Given the description of an element on the screen output the (x, y) to click on. 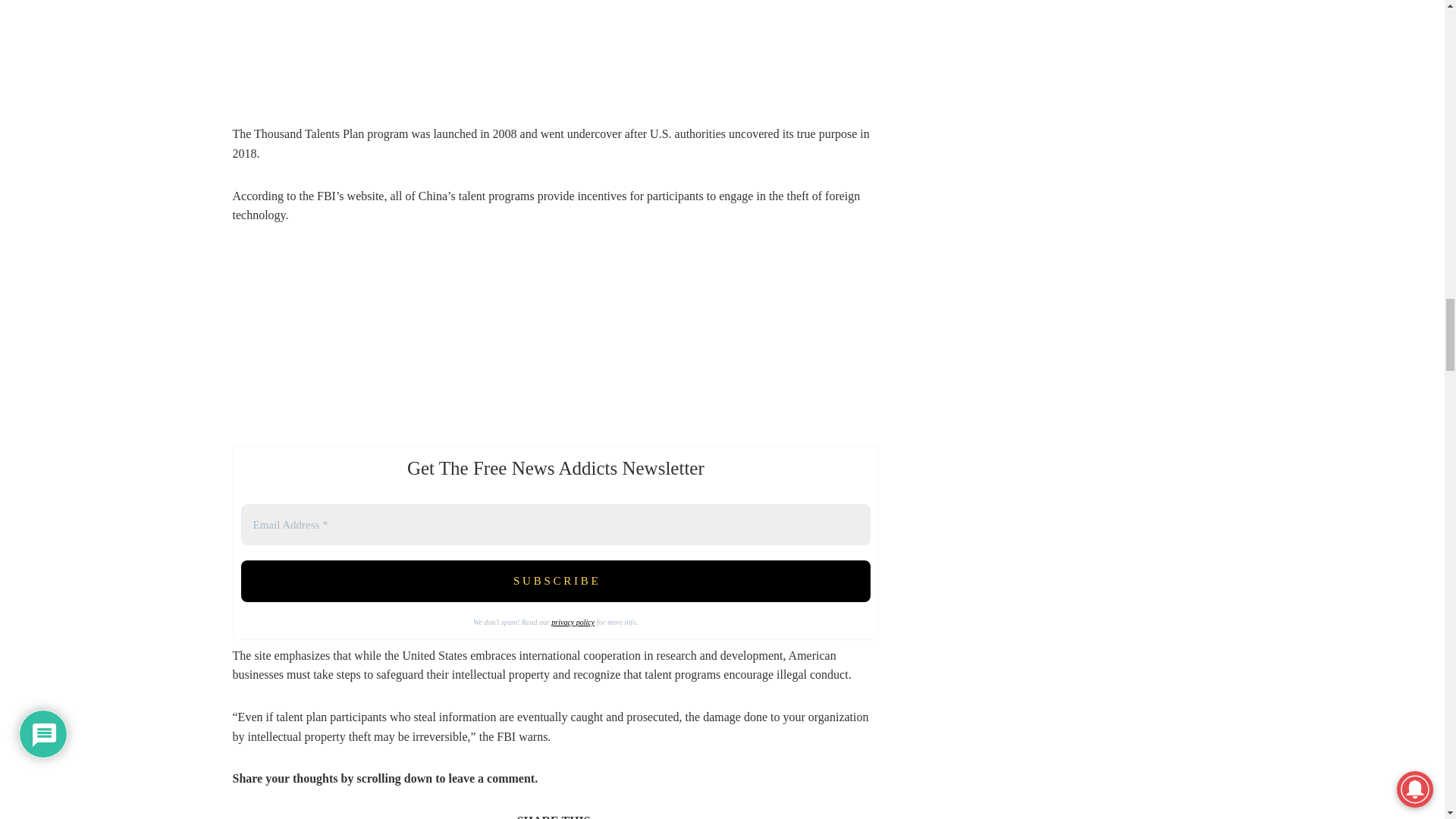
privacy policy (572, 622)
S U B S C R I B E (555, 580)
Email Address (555, 525)
S U B S C R I B E (555, 580)
